Given the description of an element on the screen output the (x, y) to click on. 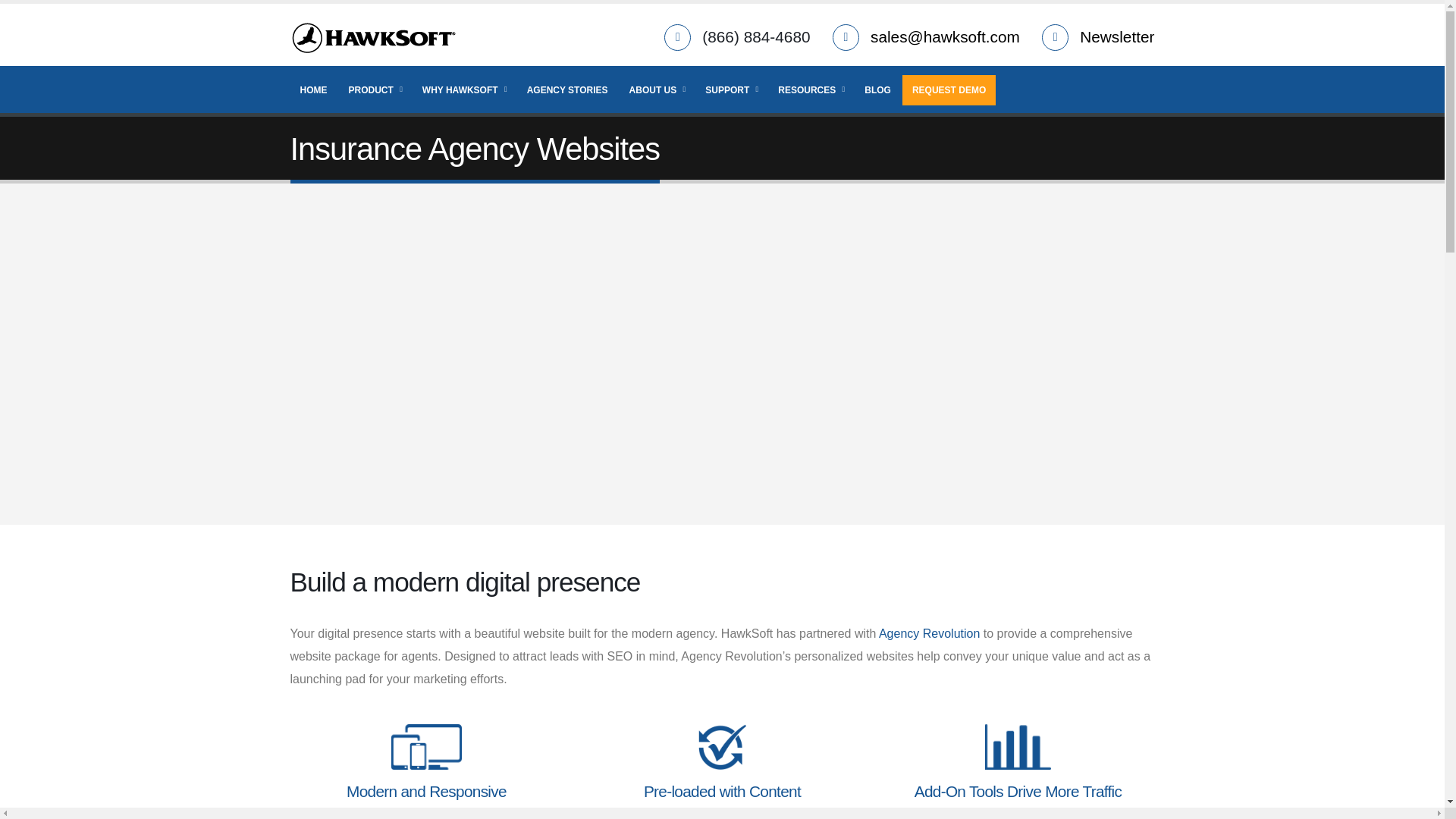
AGENCY STORIES (566, 90)
PRODUCT (373, 90)
Newsletter (1117, 36)
HOME (312, 90)
WHY HAWKSOFT (463, 90)
SUPPORT (731, 90)
ABOUT US (657, 90)
